Given the description of an element on the screen output the (x, y) to click on. 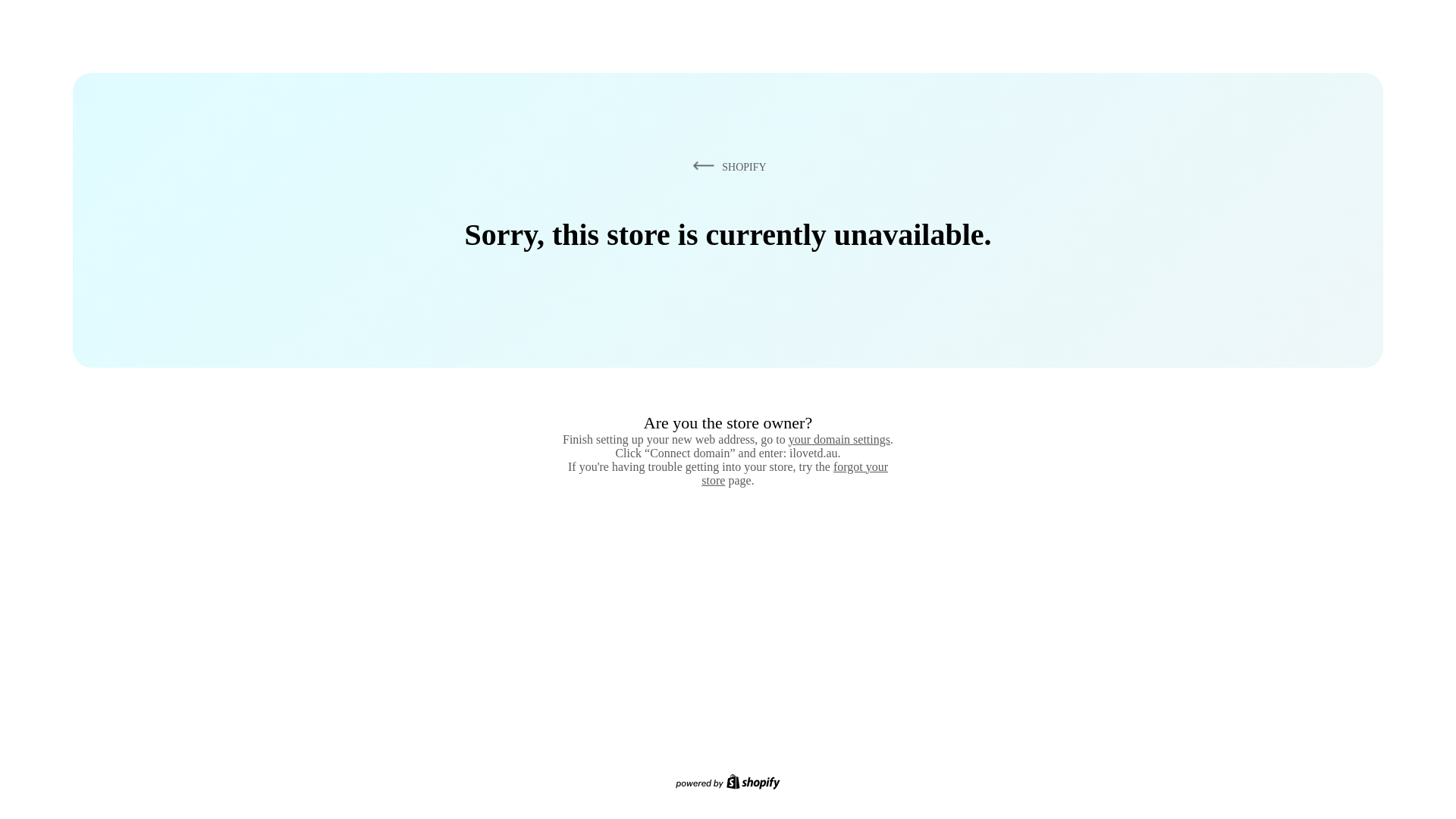
forgot your store (794, 473)
SHOPIFY (726, 166)
your domain settings (839, 439)
